Given the description of an element on the screen output the (x, y) to click on. 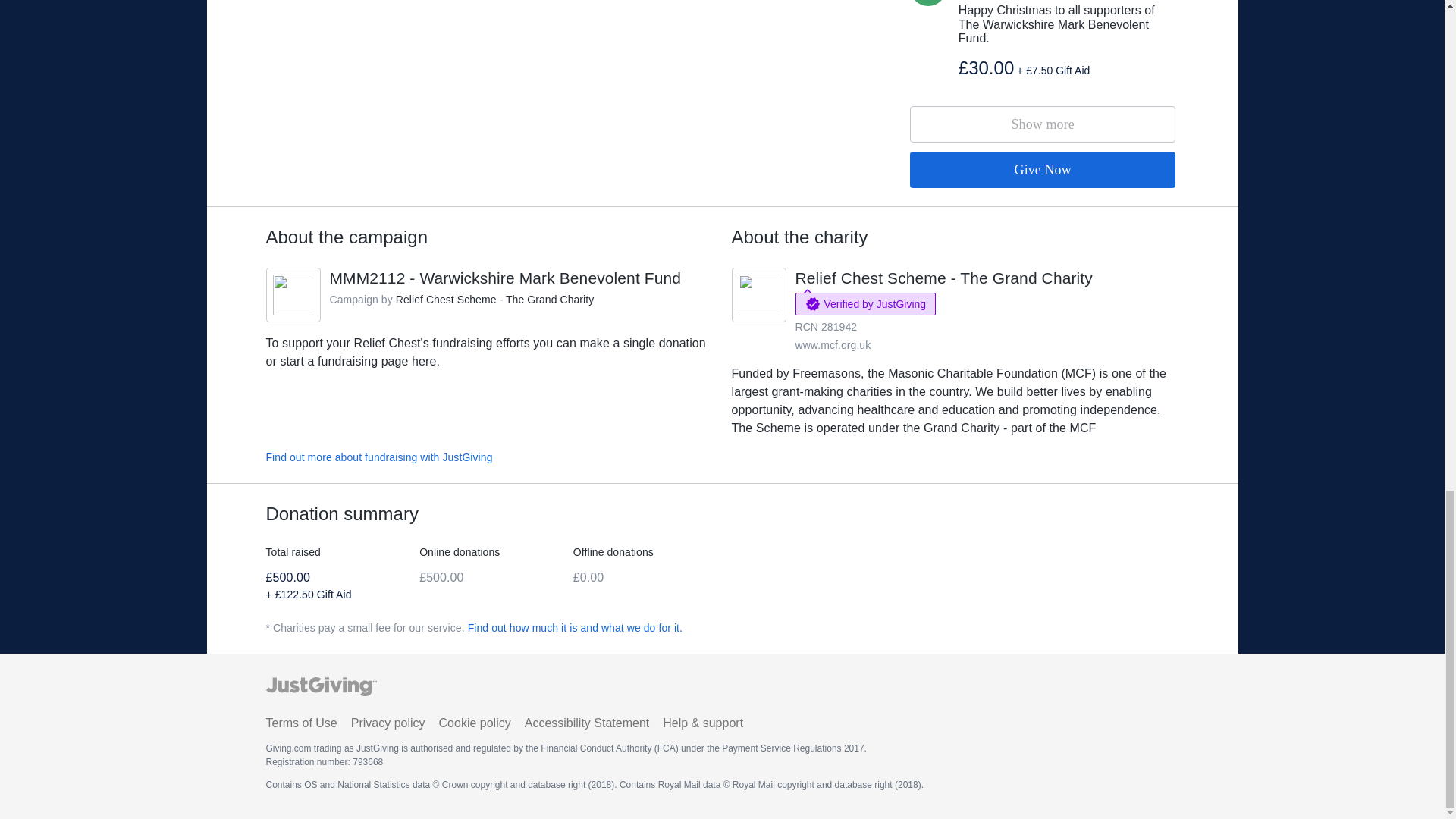
Accessibility Statement (586, 723)
Give Now (1043, 169)
Find out how much it is and what we do for it. (574, 627)
Relief Chest Scheme - The Grand Charity (943, 277)
R (1043, 124)
Terms of Use (928, 2)
www.mcf.org.uk (300, 723)
Relief Chest Scheme - The Grand Charity (832, 345)
Privacy policy (495, 299)
Cookie policy (387, 723)
Find out more about fundraising with JustGiving (475, 723)
MMM2112 - Warwickshire Mark Benevolent Fund (378, 457)
